Given the description of an element on the screen output the (x, y) to click on. 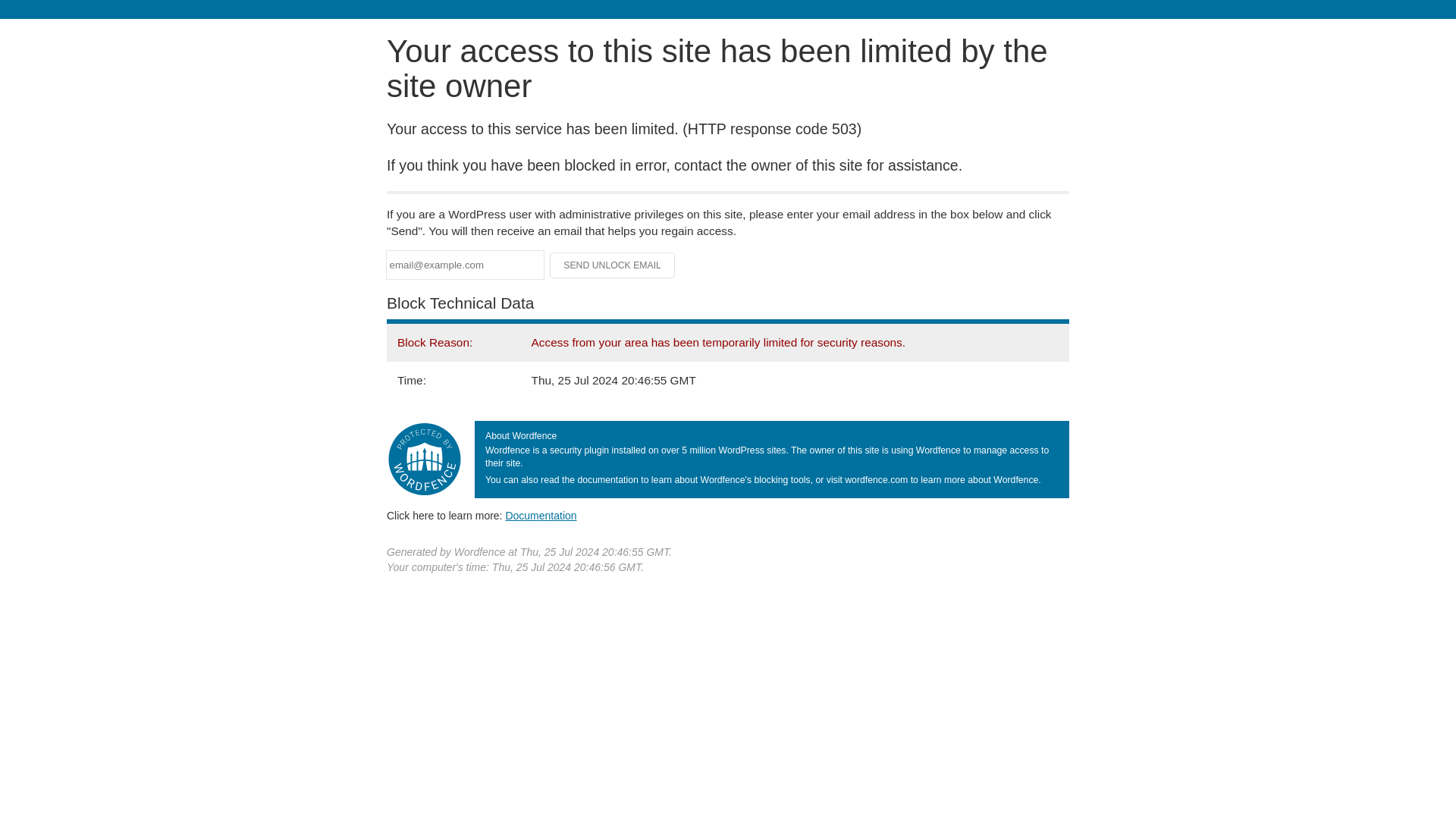
Send Unlock Email (612, 265)
Documentation (540, 515)
Send Unlock Email (612, 265)
